Given the description of an element on the screen output the (x, y) to click on. 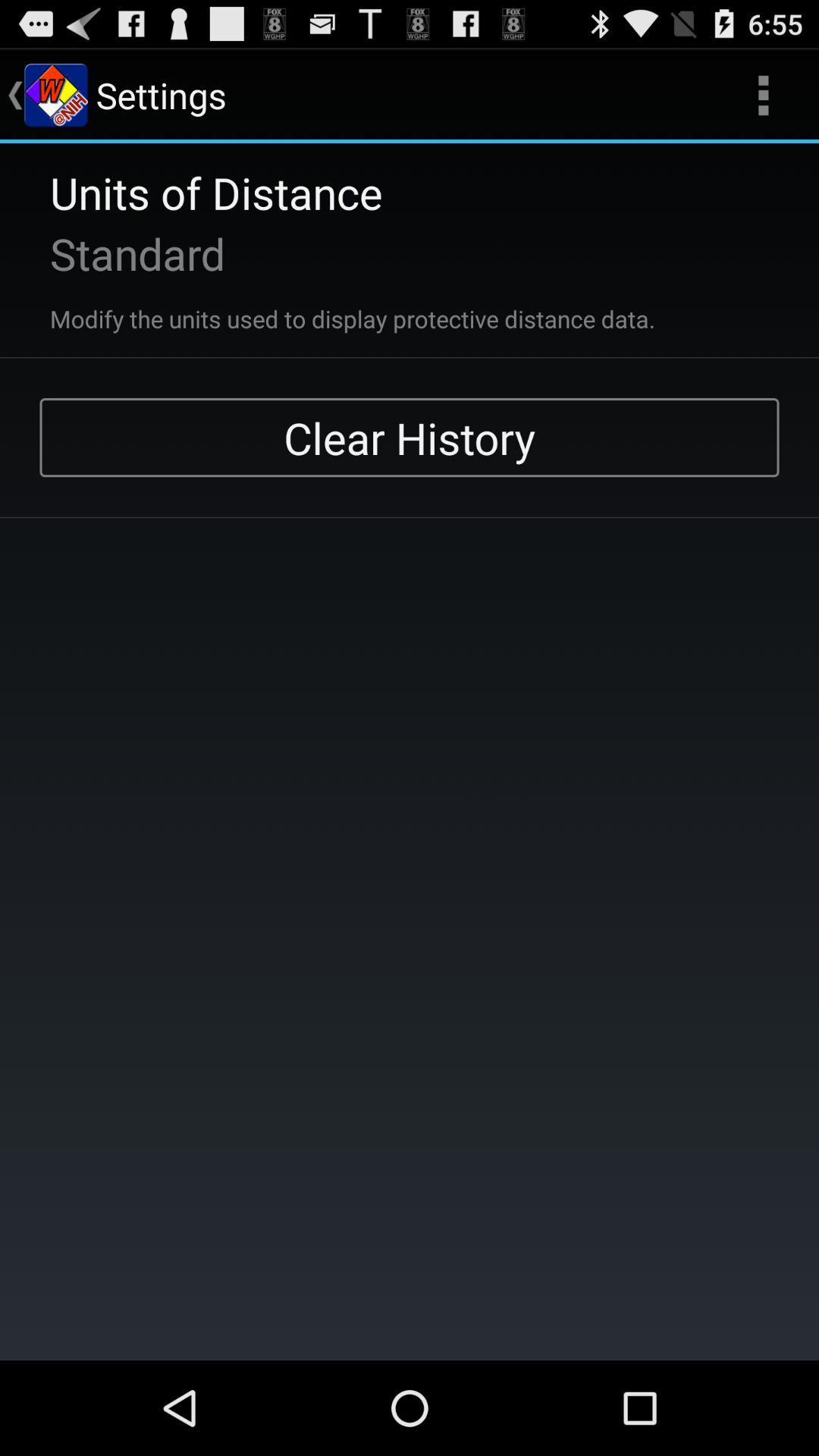
click the modify the units (332, 309)
